Given the description of an element on the screen output the (x, y) to click on. 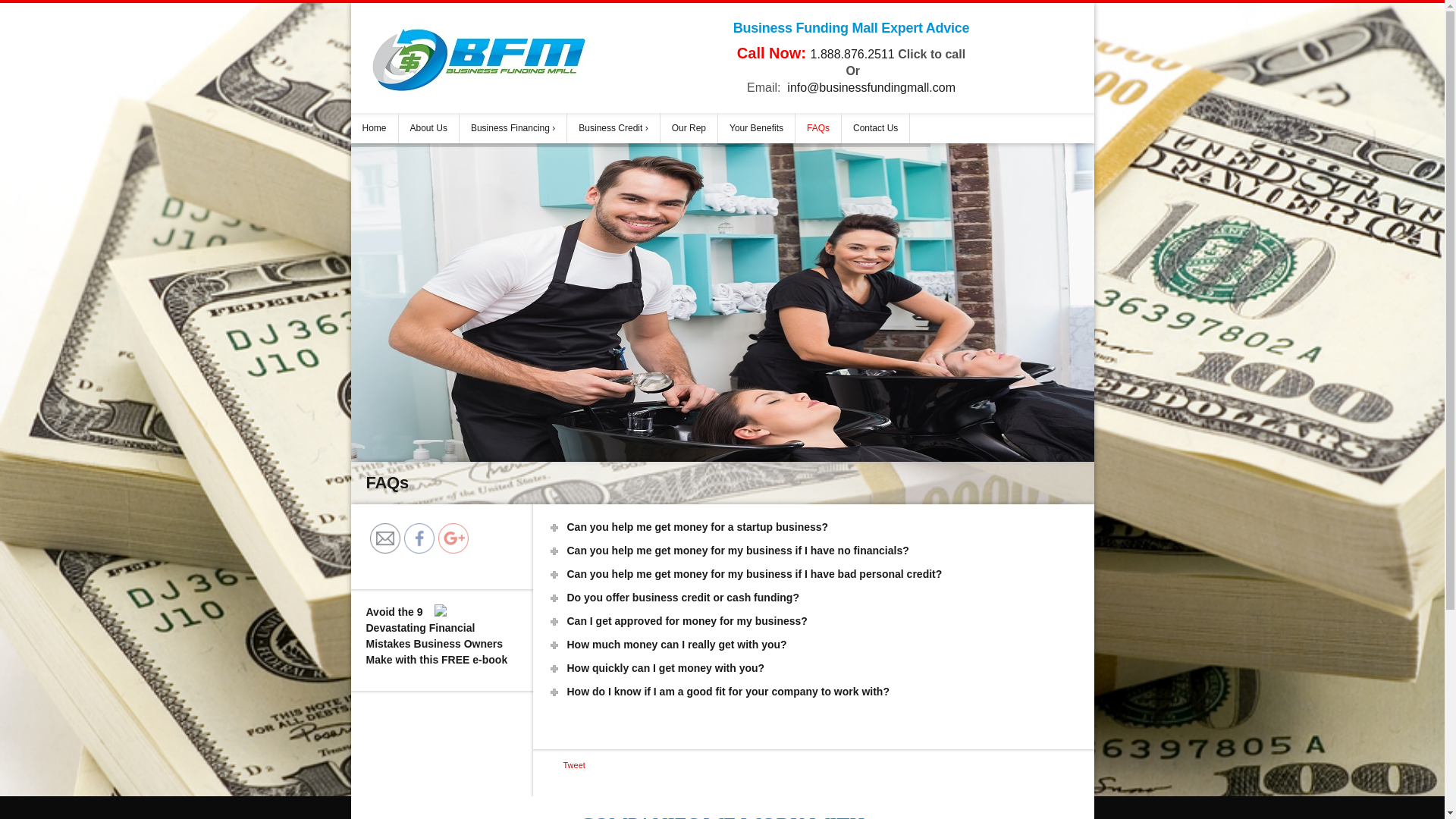
Business Financing (513, 128)
Facebook (418, 538)
Follow by Email (384, 538)
Business Funding  Mall (478, 57)
Home (373, 128)
1.888.876.2511 (852, 54)
About Us (429, 128)
